Given the description of an element on the screen output the (x, y) to click on. 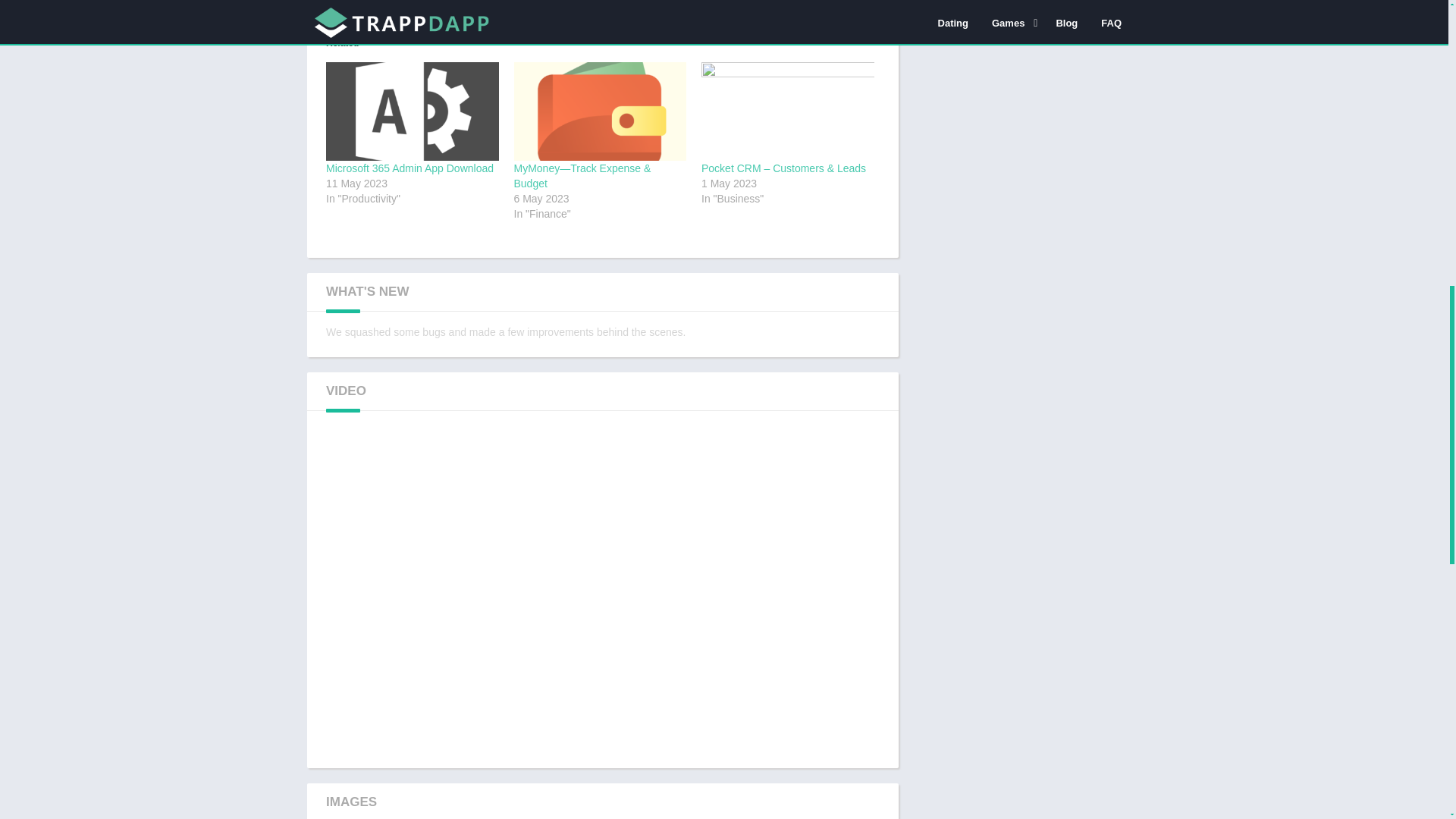
Microsoft 365 Admin App Download (412, 111)
Microsoft 365 Admin App Download (409, 168)
Microsoft 365 Admin App Download (409, 168)
